Given the description of an element on the screen output the (x, y) to click on. 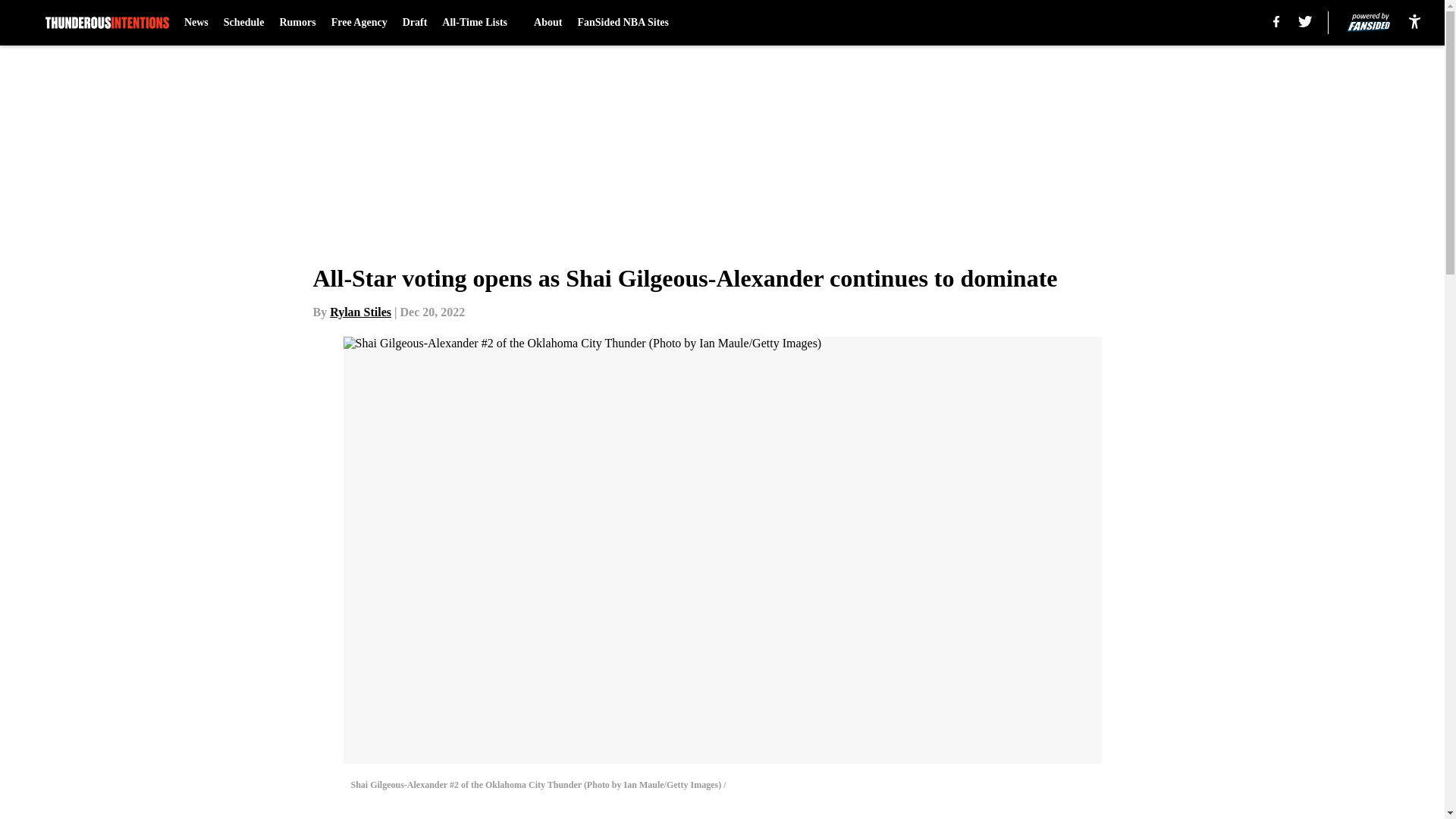
Schedule (244, 22)
All-Time Lists (480, 22)
Rylan Stiles (360, 311)
FanSided NBA Sites (622, 22)
News (196, 22)
About (548, 22)
Draft (415, 22)
Free Agency (359, 22)
Rumors (297, 22)
